Given the description of an element on the screen output the (x, y) to click on. 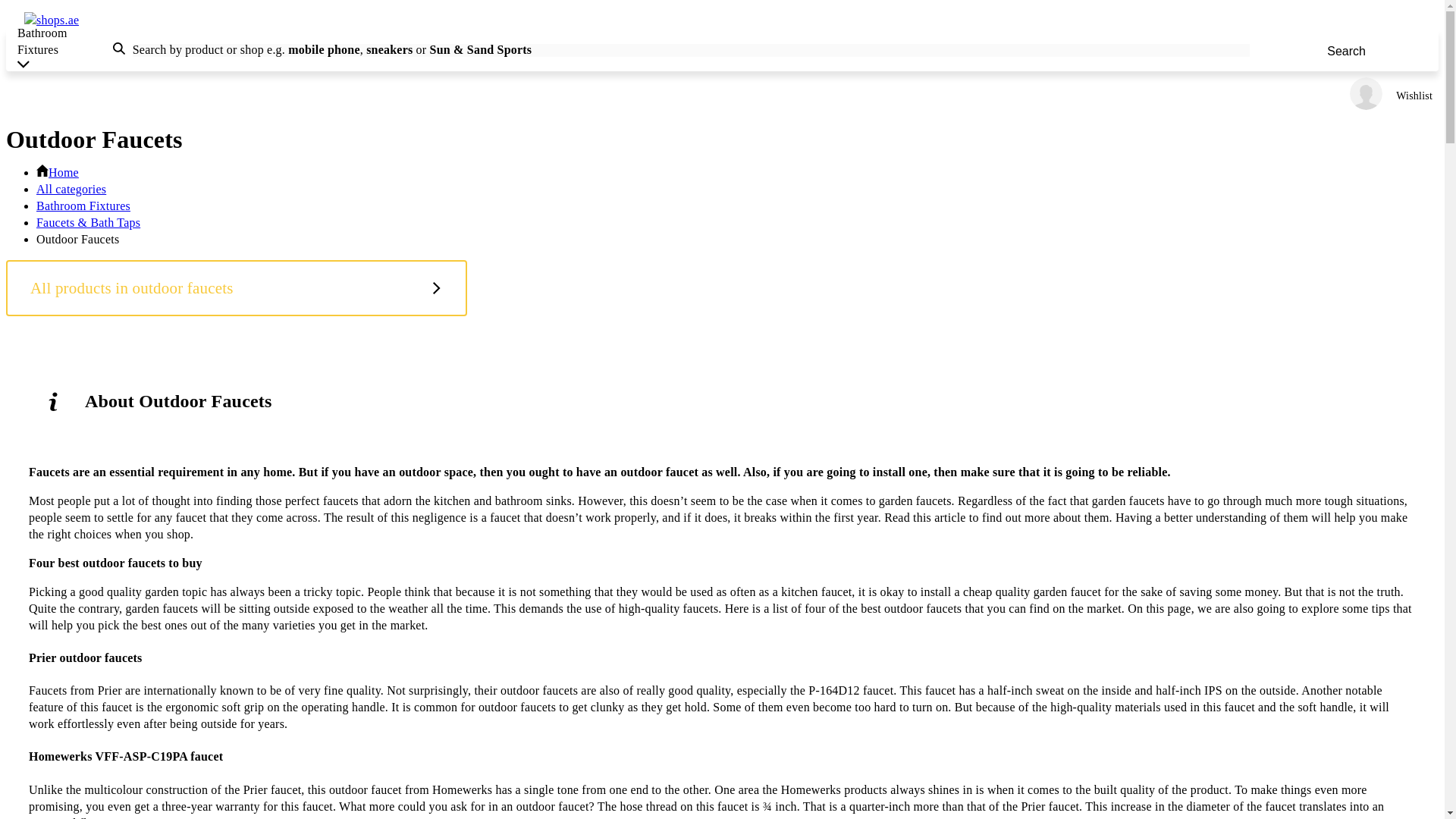
All categories (71, 188)
All products in outdoor faucets (236, 288)
Bathroom Fixtures (83, 205)
shops.ae (51, 20)
Home (57, 172)
